Given the description of an element on the screen output the (x, y) to click on. 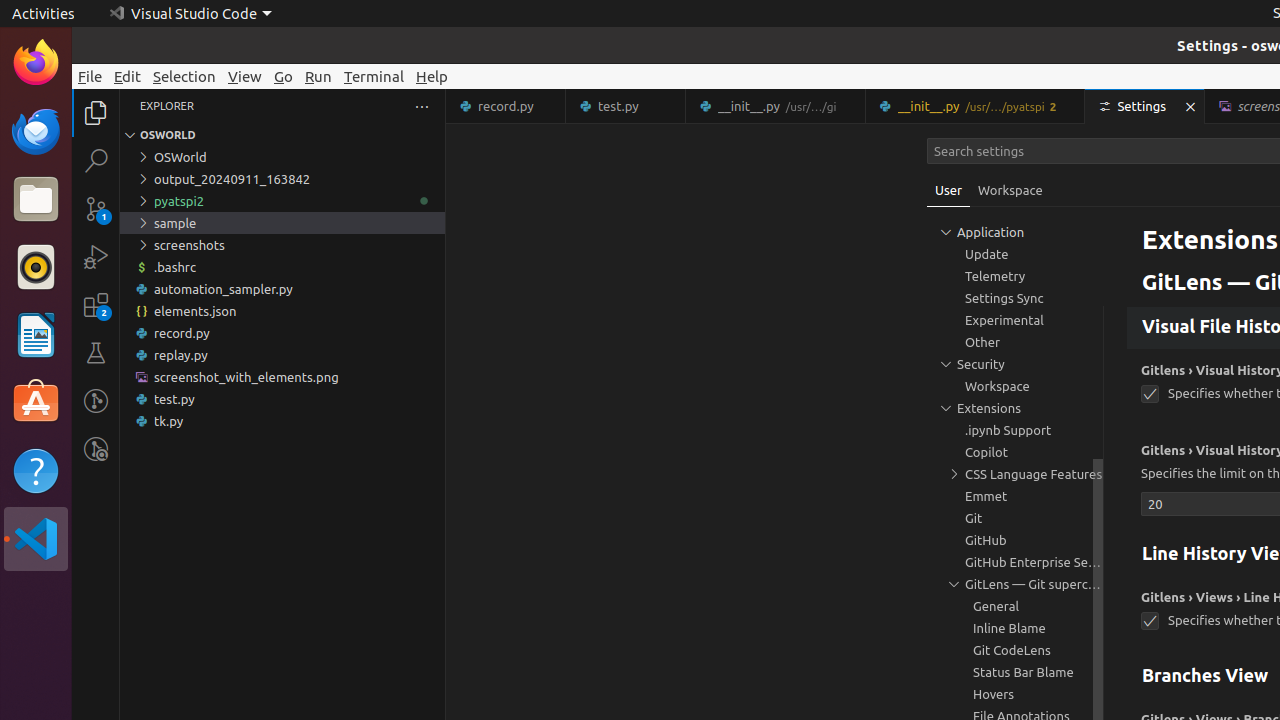
Copilot, group Element type: tree-item (1015, 452)
Telemetry, group Element type: tree-item (1015, 276)
Git CodeLens, group Element type: tree-item (1015, 650)
Keyboard, group Element type: tree-item (1015, 232)
